Given the description of an element on the screen output the (x, y) to click on. 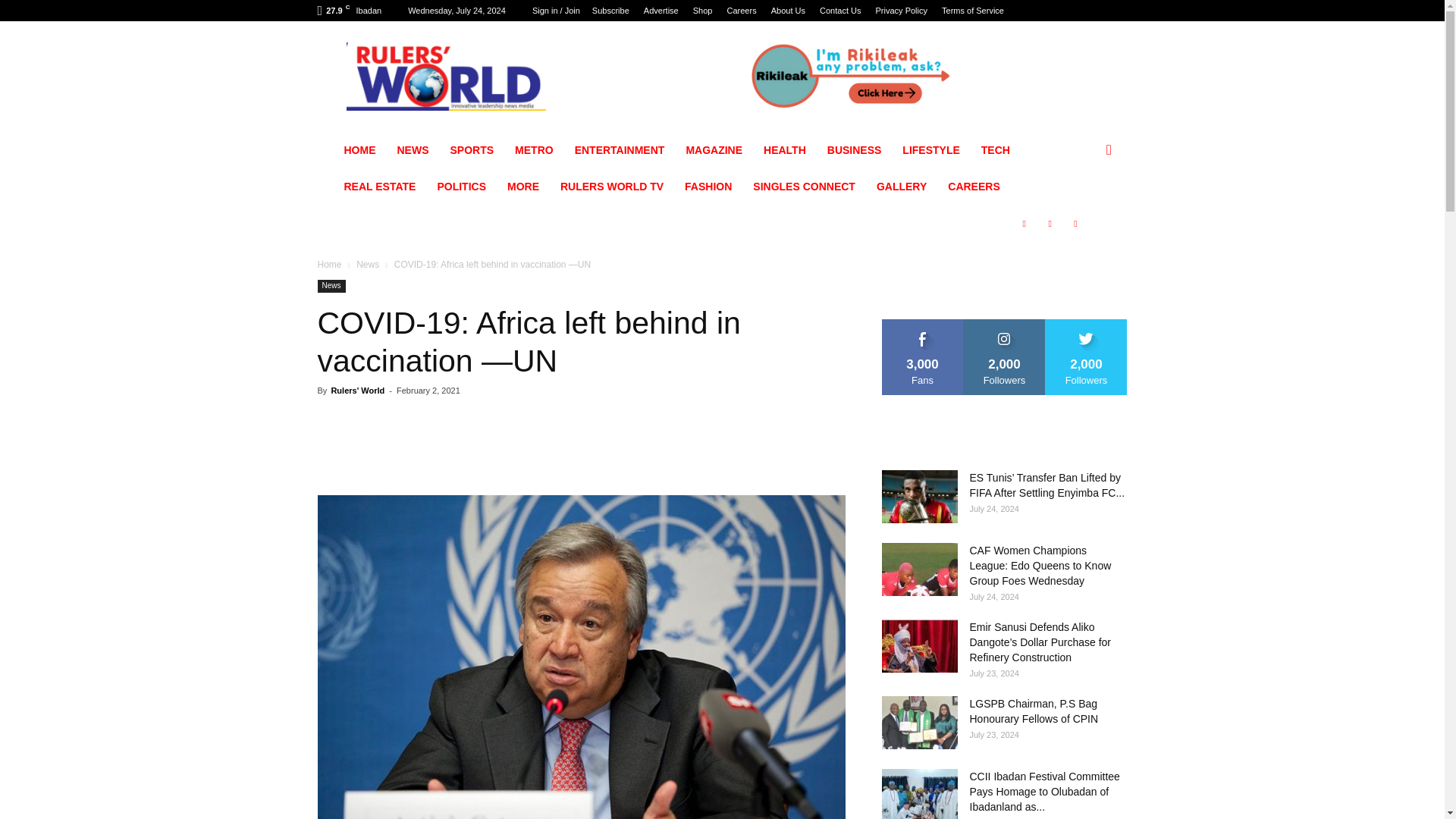
Careers (741, 10)
Privacy Policy (901, 10)
Contact Us (839, 10)
Terms of Service (973, 10)
About Us (788, 10)
Advertise (660, 10)
View all posts in News (367, 264)
Subscribe (610, 10)
Shop (703, 10)
